Given the description of an element on the screen output the (x, y) to click on. 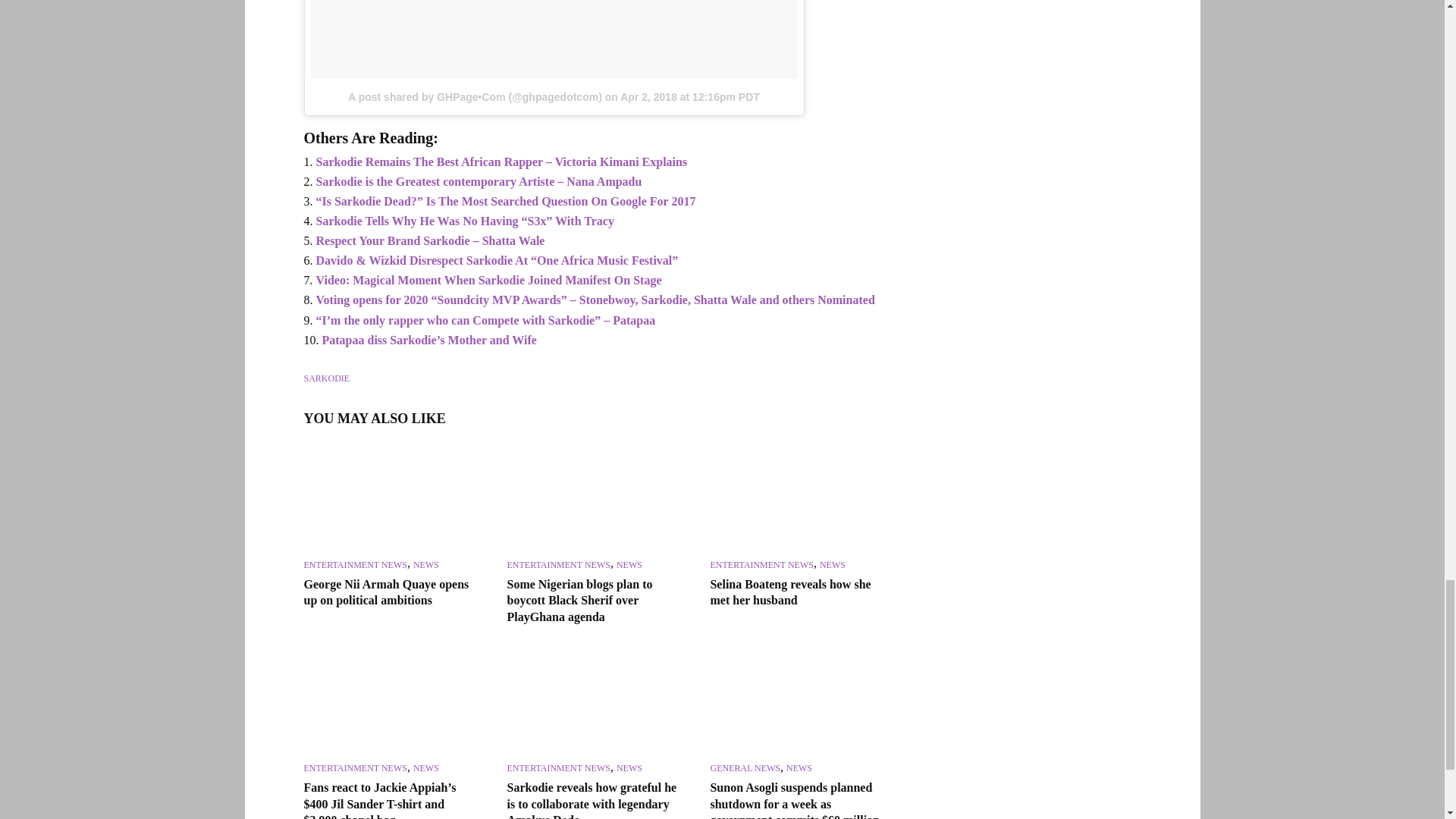
Video: Magical Moment When Sarkodie Joined Manifest On Stage (488, 279)
George Nii Armah Quaye opens up on political ambitions (390, 497)
